Given the description of an element on the screen output the (x, y) to click on. 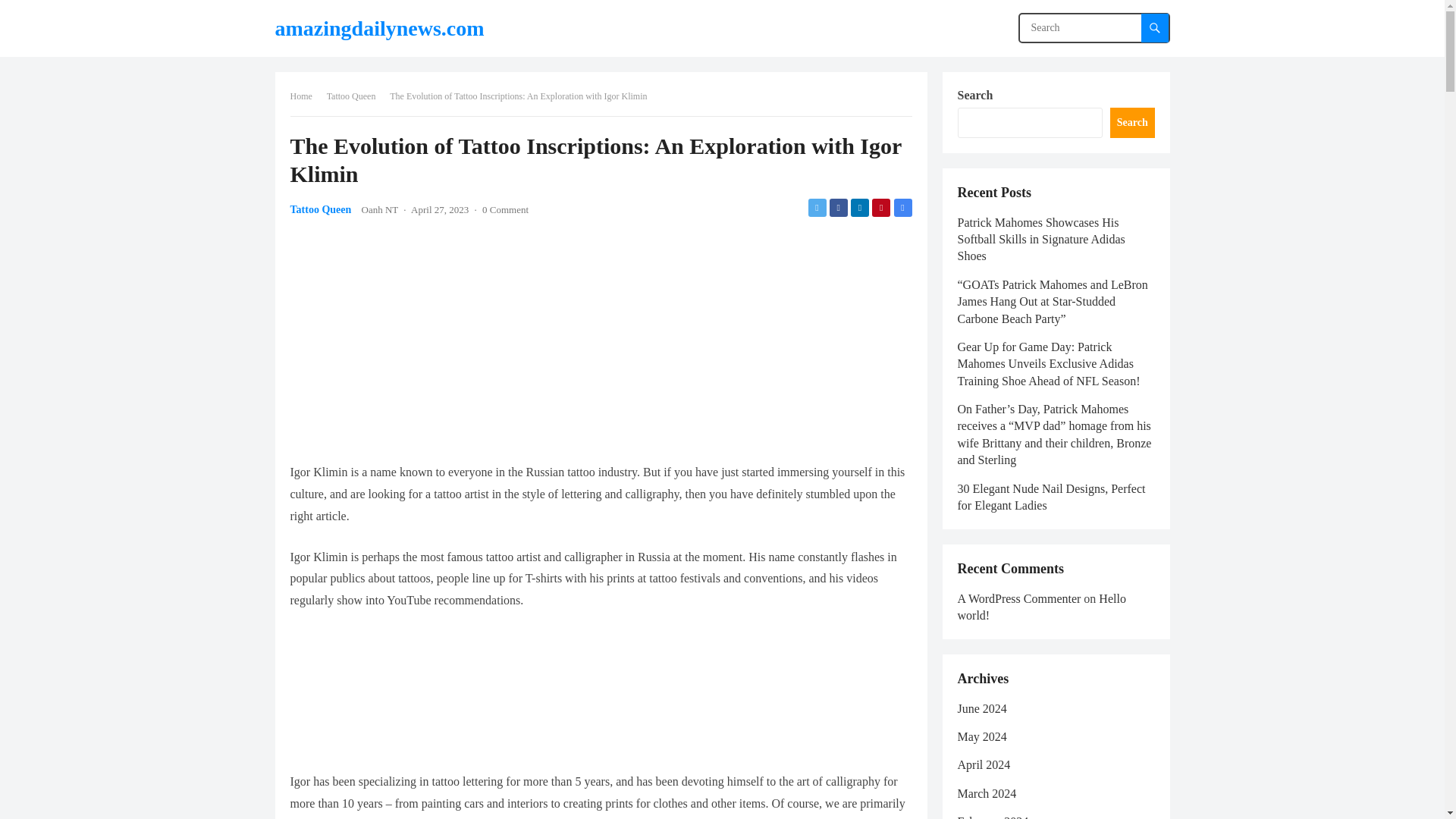
Home (305, 95)
0 Comment (504, 209)
Posts by Oanh NT (379, 209)
Tattoo Queen (319, 209)
Tattoo Queen (356, 95)
Oanh NT (379, 209)
amazingdailynews.com (379, 28)
